Given the description of an element on the screen output the (x, y) to click on. 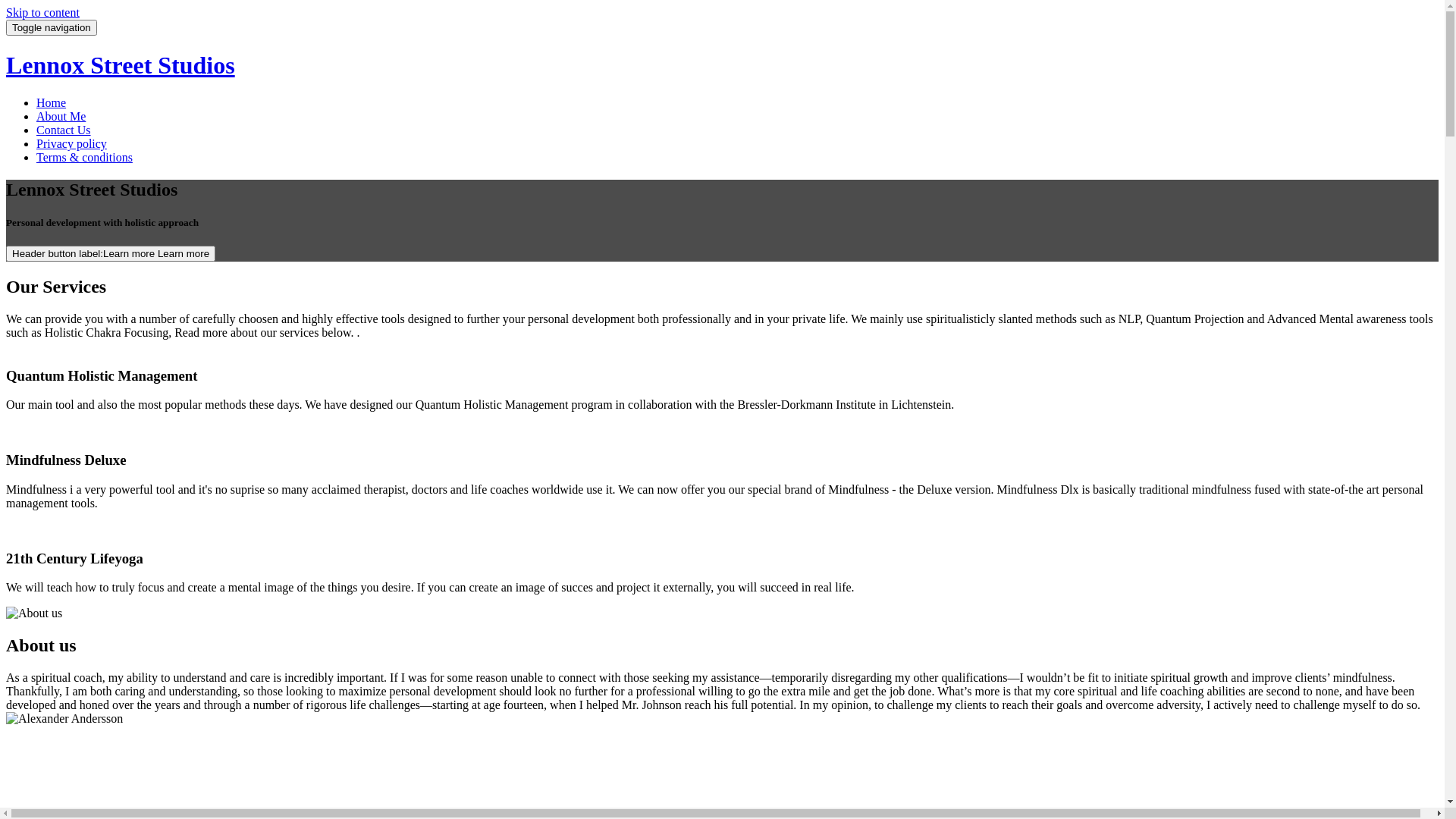
Privacy policy Element type: text (71, 143)
Terms & conditions Element type: text (84, 156)
Header button label:Learn more Learn more Element type: text (110, 253)
Home Element type: text (50, 102)
Toggle navigation Element type: text (51, 27)
About Me Element type: text (60, 115)
Skip to content Element type: text (42, 12)
Contact Us Element type: text (63, 129)
Lennox Street Studios Element type: text (120, 64)
